Given the description of an element on the screen output the (x, y) to click on. 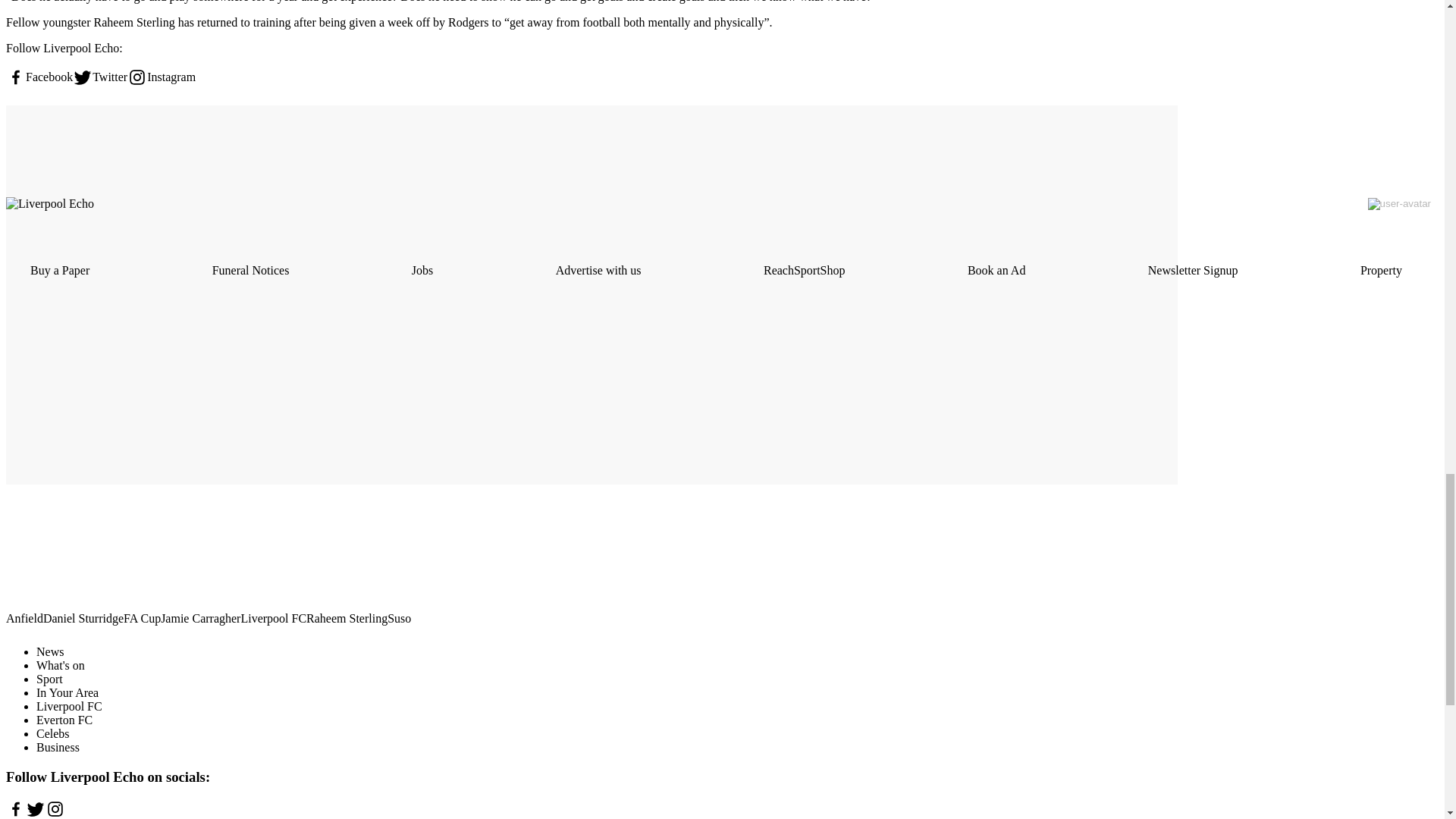
FA Cup (141, 618)
Sport (49, 678)
Suso (398, 618)
Raheem Sterling (346, 618)
In Your Area (67, 692)
Liverpool FC (272, 618)
Jamie Carragher (200, 618)
News (50, 651)
Instagram (161, 76)
What's on (60, 665)
